Given the description of an element on the screen output the (x, y) to click on. 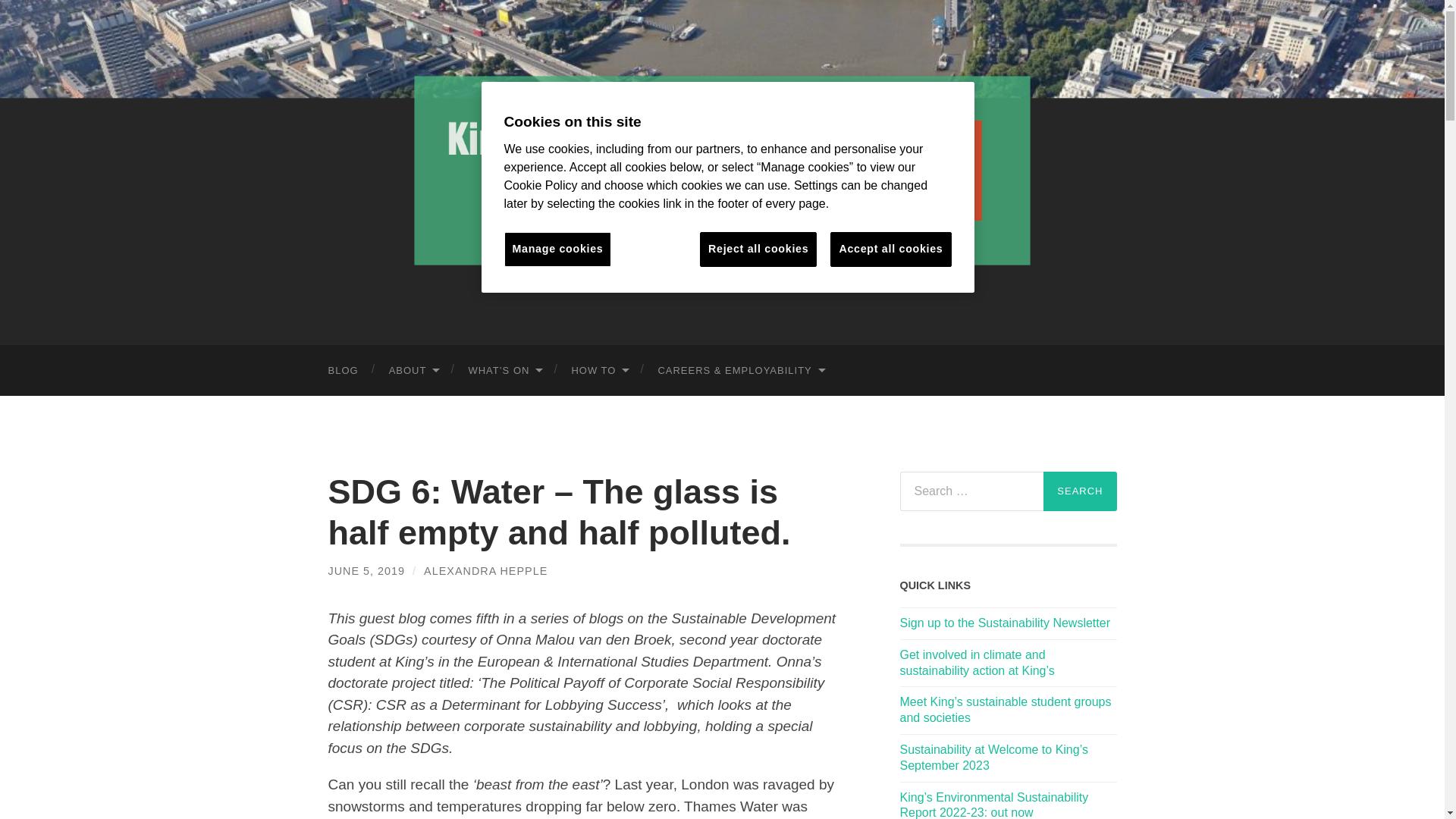
King's Sustainability (721, 170)
BLOG (342, 369)
Search (1079, 491)
ABOUT (413, 369)
HOW TO (599, 369)
Search (1079, 491)
Posts by Alexandra Hepple (485, 571)
